Given the description of an element on the screen output the (x, y) to click on. 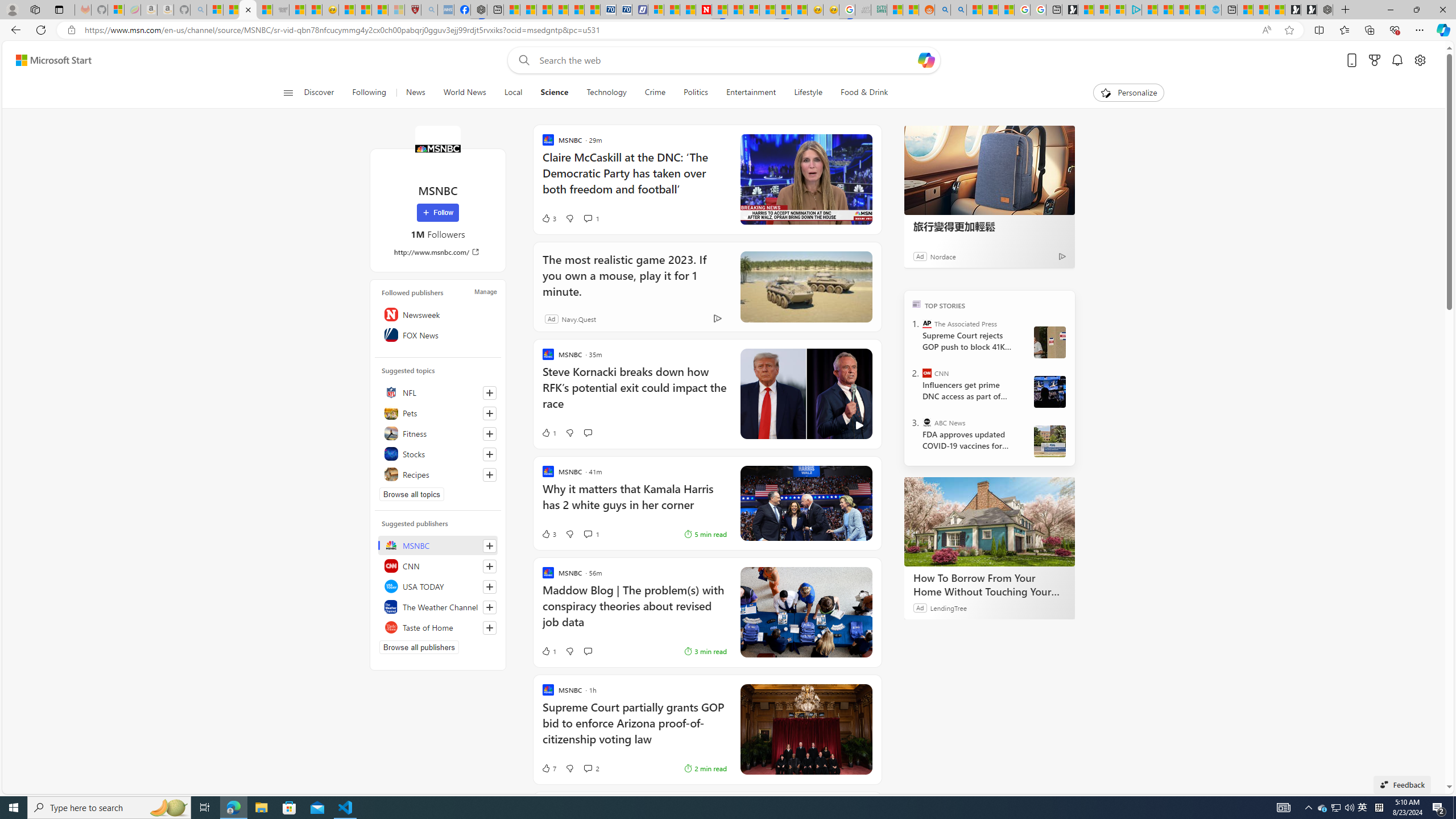
14 Common Myths Debunked By Scientific Facts (735, 9)
Nordace - Nordace Siena Is Not An Ordinary Backpack (1324, 9)
Recipes - MSN (346, 9)
7 Like (547, 768)
Local (513, 92)
Navy Quest (863, 9)
